Given the description of an element on the screen output the (x, y) to click on. 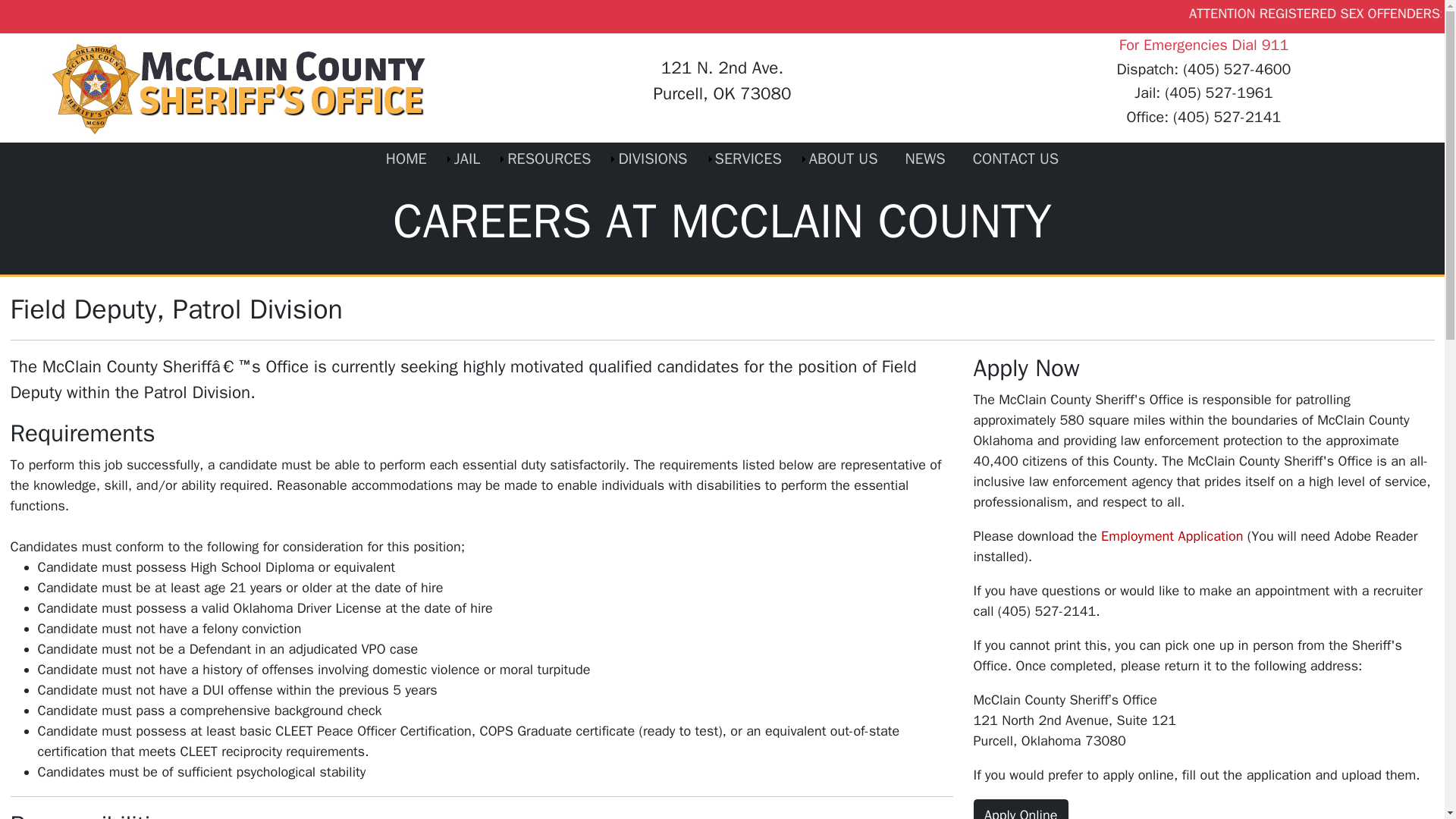
HOME (406, 159)
click to call (1236, 67)
JAIL (467, 159)
McClain County Sheriff Home Page (406, 159)
DIVISIONS (652, 159)
McClain County Sheriff's Office (240, 86)
Employment Application (1171, 535)
McClain County Sheriff's Office Logo (240, 87)
RESOURCES (548, 159)
NEWS (925, 159)
